Given the description of an element on the screen output the (x, y) to click on. 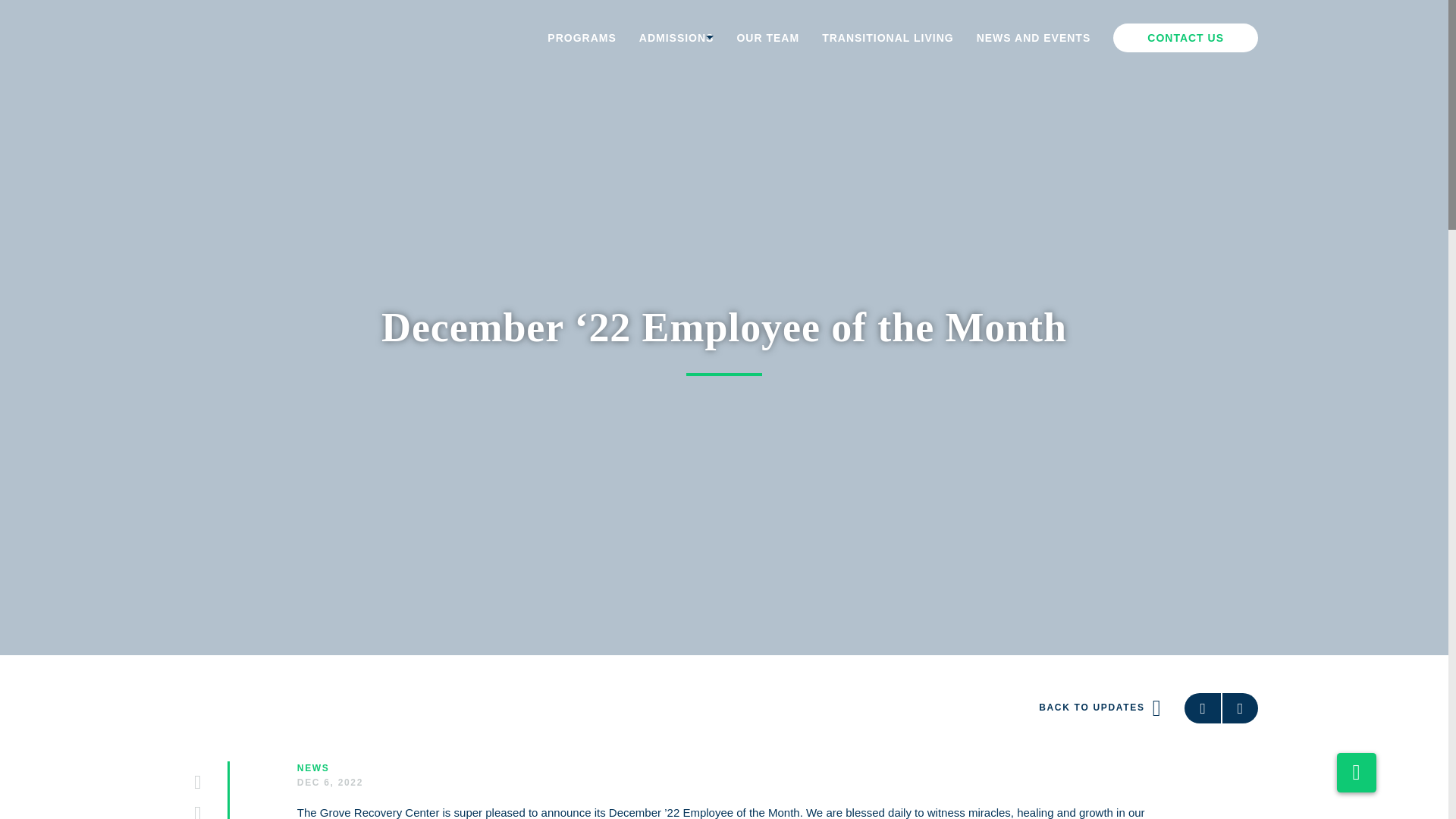
BACK TO UPDATES (1100, 707)
Back To Updates (1100, 707)
CONTACT US (1185, 37)
TRANSITIONAL LIVING (887, 37)
The Grove Recovery Center (275, 39)
Share post on Twitter (196, 811)
OUR TEAM (767, 37)
PROGRAMS (581, 37)
Share post on Facebook (196, 782)
The Grove Recovery Center (275, 39)
NEWS AND EVENTS (1033, 37)
ADMISSIONS (676, 37)
